Given the description of an element on the screen output the (x, y) to click on. 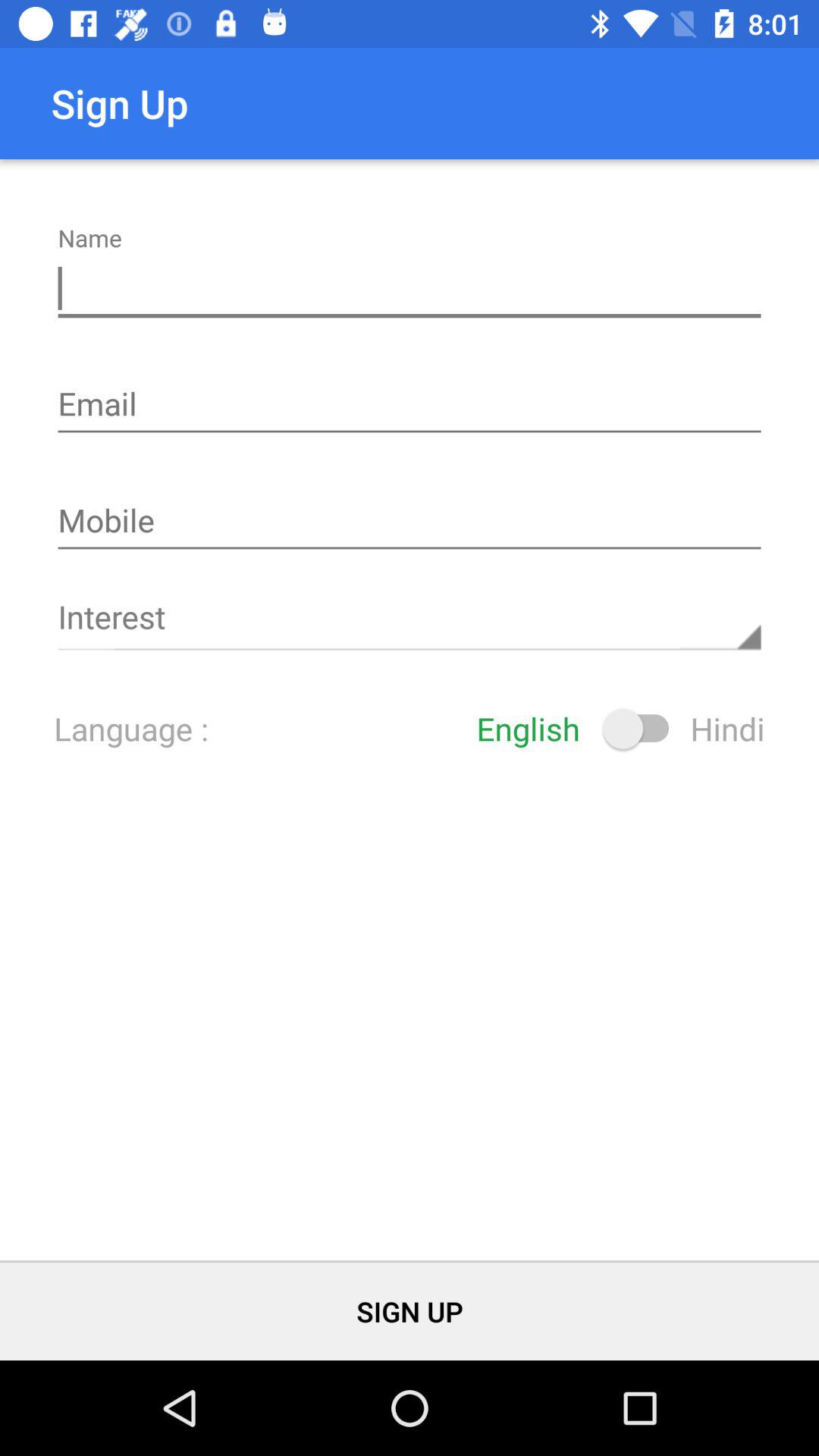
enter phone number (409, 522)
